Given the description of an element on the screen output the (x, y) to click on. 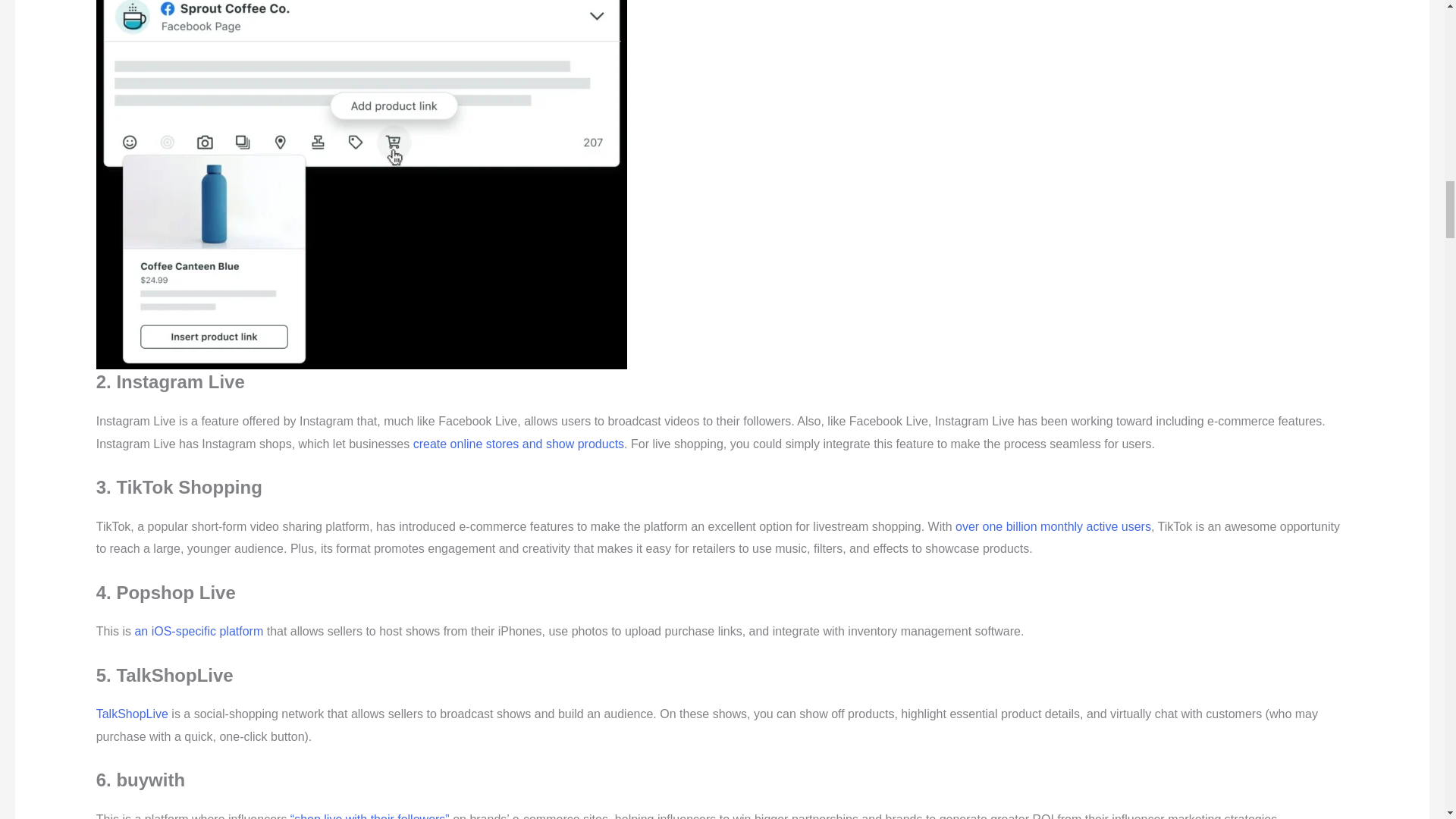
over one billion monthly active users (1053, 526)
TalkShopLive (132, 713)
create online stores and show products (518, 443)
an iOS-specific platform (198, 631)
